Given the description of an element on the screen output the (x, y) to click on. 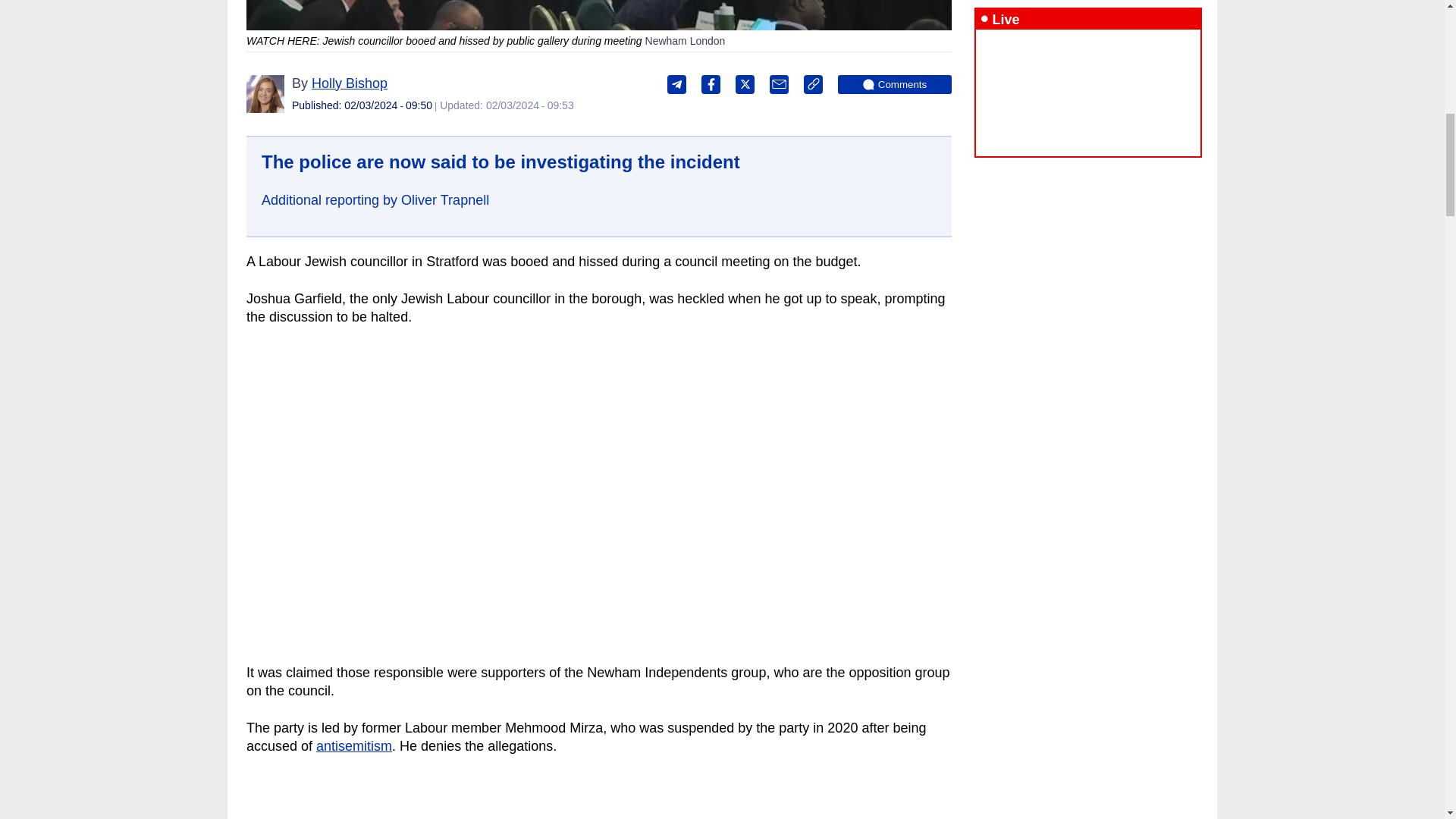
Holly Bishop (264, 94)
Holly Bishop (349, 83)
Copy this link to clipboard (812, 84)
